Given the description of an element on the screen output the (x, y) to click on. 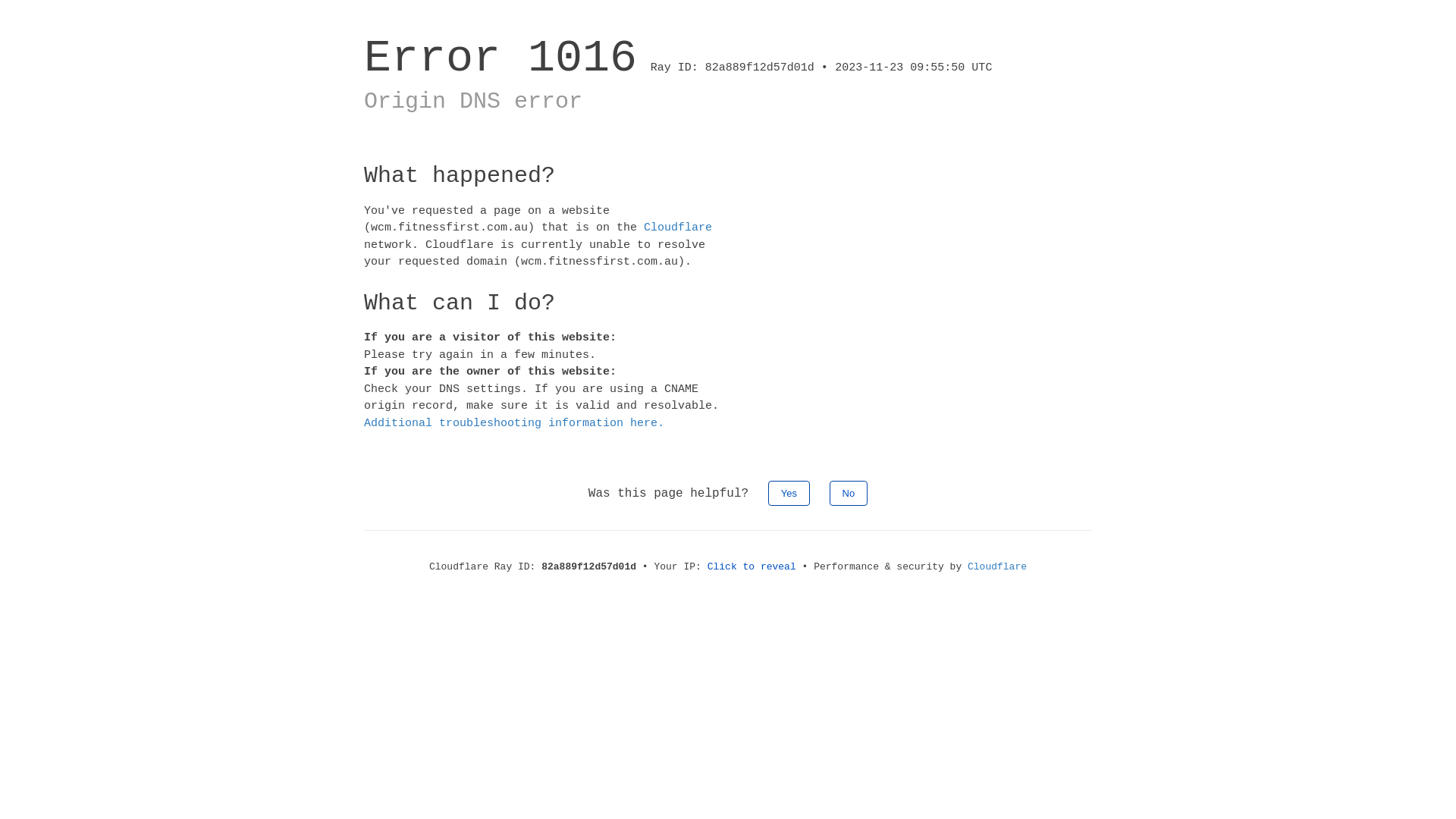
No Element type: text (848, 492)
Click to reveal Element type: text (751, 566)
Cloudflare Element type: text (677, 227)
Yes Element type: text (788, 492)
Additional troubleshooting information here. Element type: text (514, 423)
Cloudflare Element type: text (996, 566)
